Given the description of an element on the screen output the (x, y) to click on. 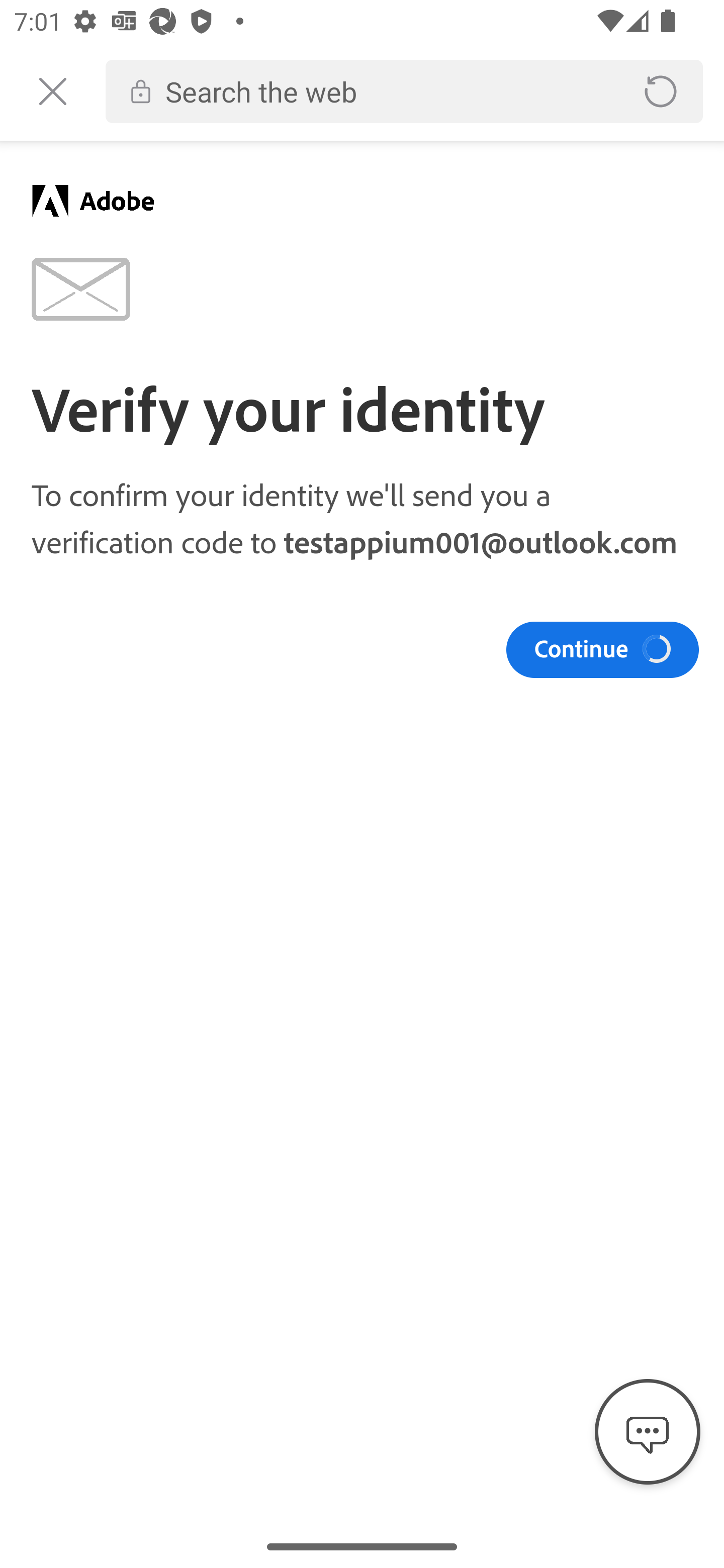
Close (52, 91)
Search the web (386, 91)
Refresh (660, 91)
Continue (602, 649)
Contact us (648, 1432)
